Given the description of an element on the screen output the (x, y) to click on. 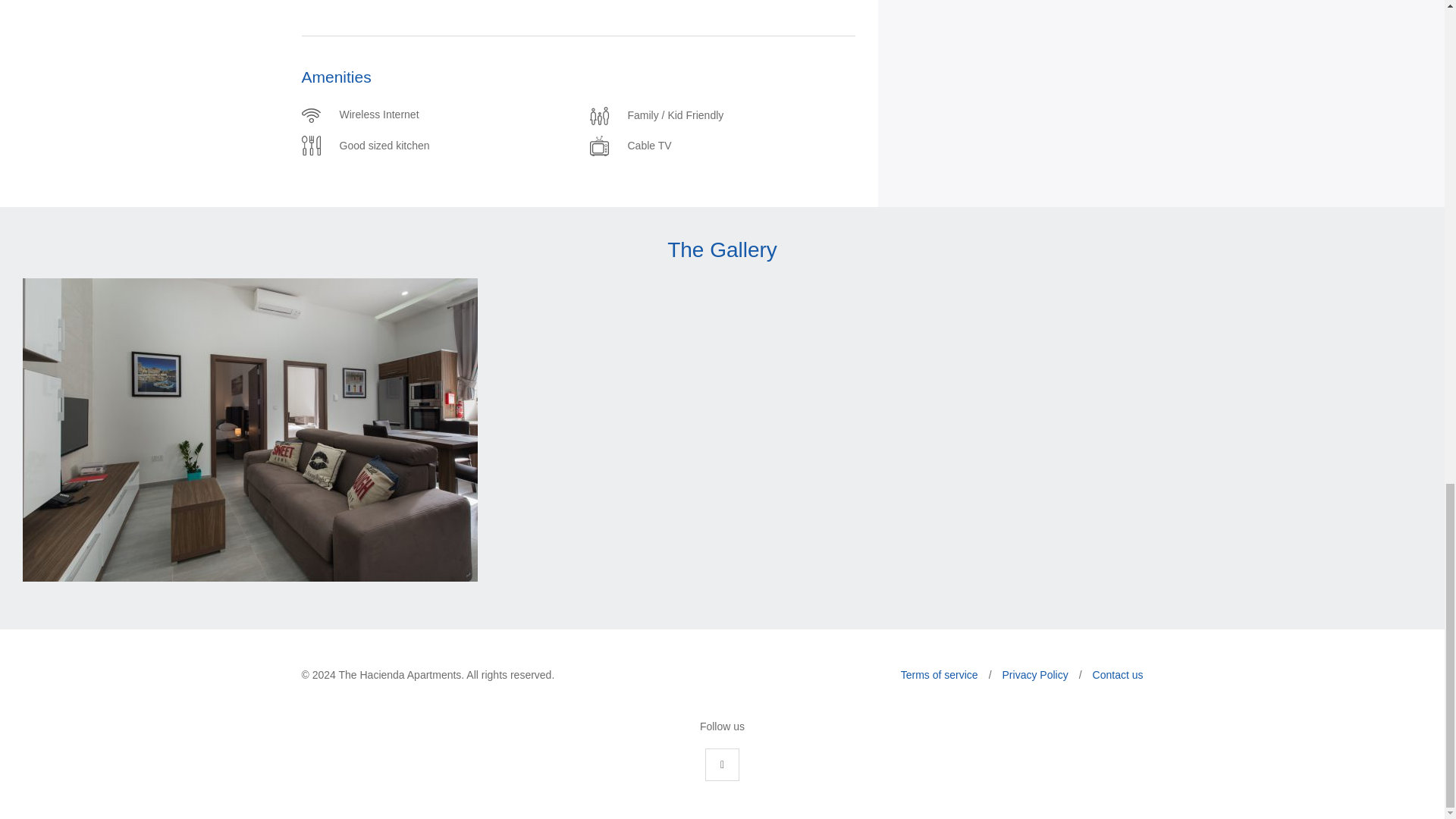
Facebook (721, 765)
Contact us (1117, 674)
Terms of service (939, 674)
Privacy Policy (1035, 674)
